Given the description of an element on the screen output the (x, y) to click on. 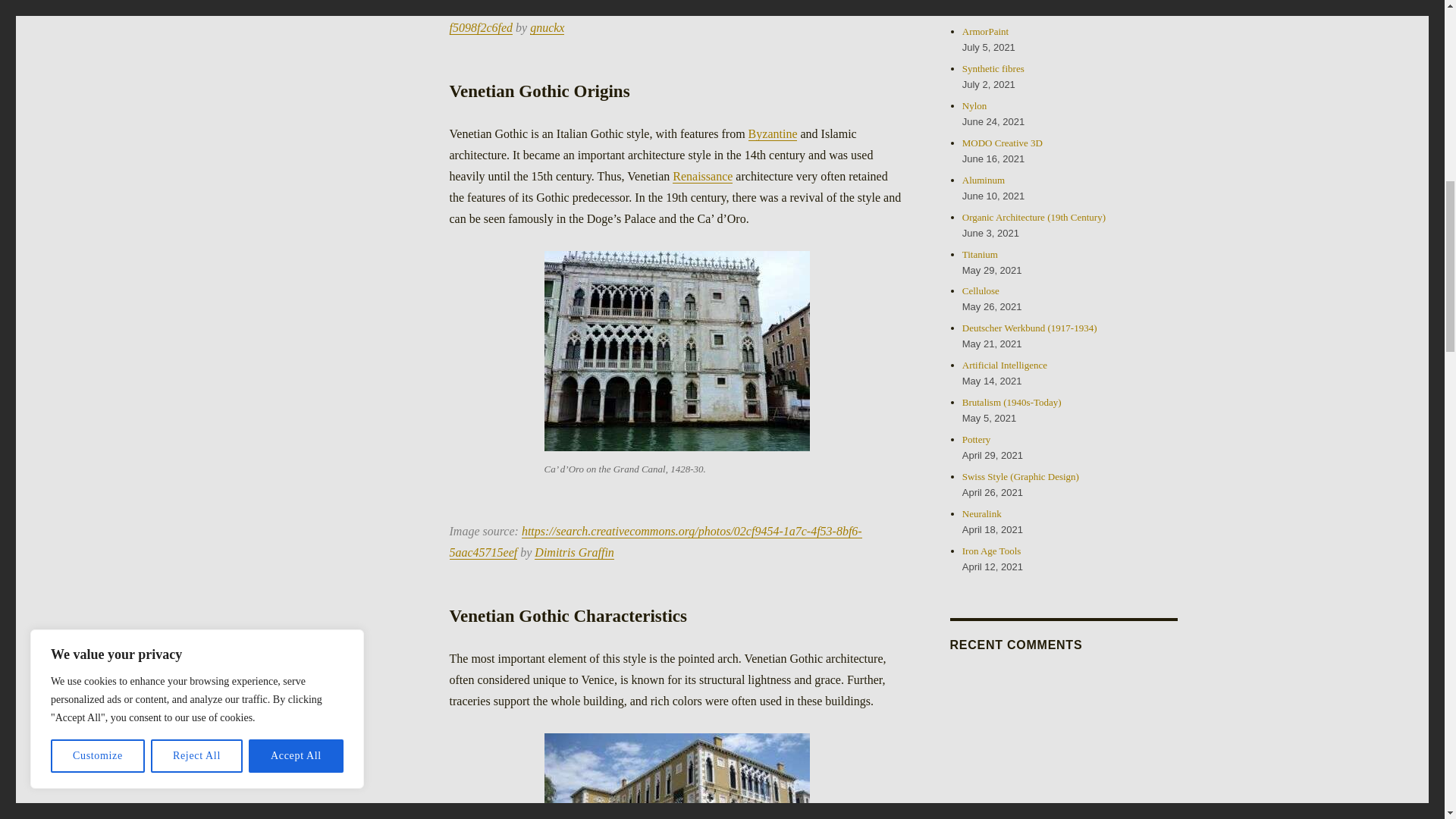
Dimitris Graffin (573, 552)
Renaissance (702, 175)
Byzantine (772, 133)
gnuckx (546, 27)
